Given the description of an element on the screen output the (x, y) to click on. 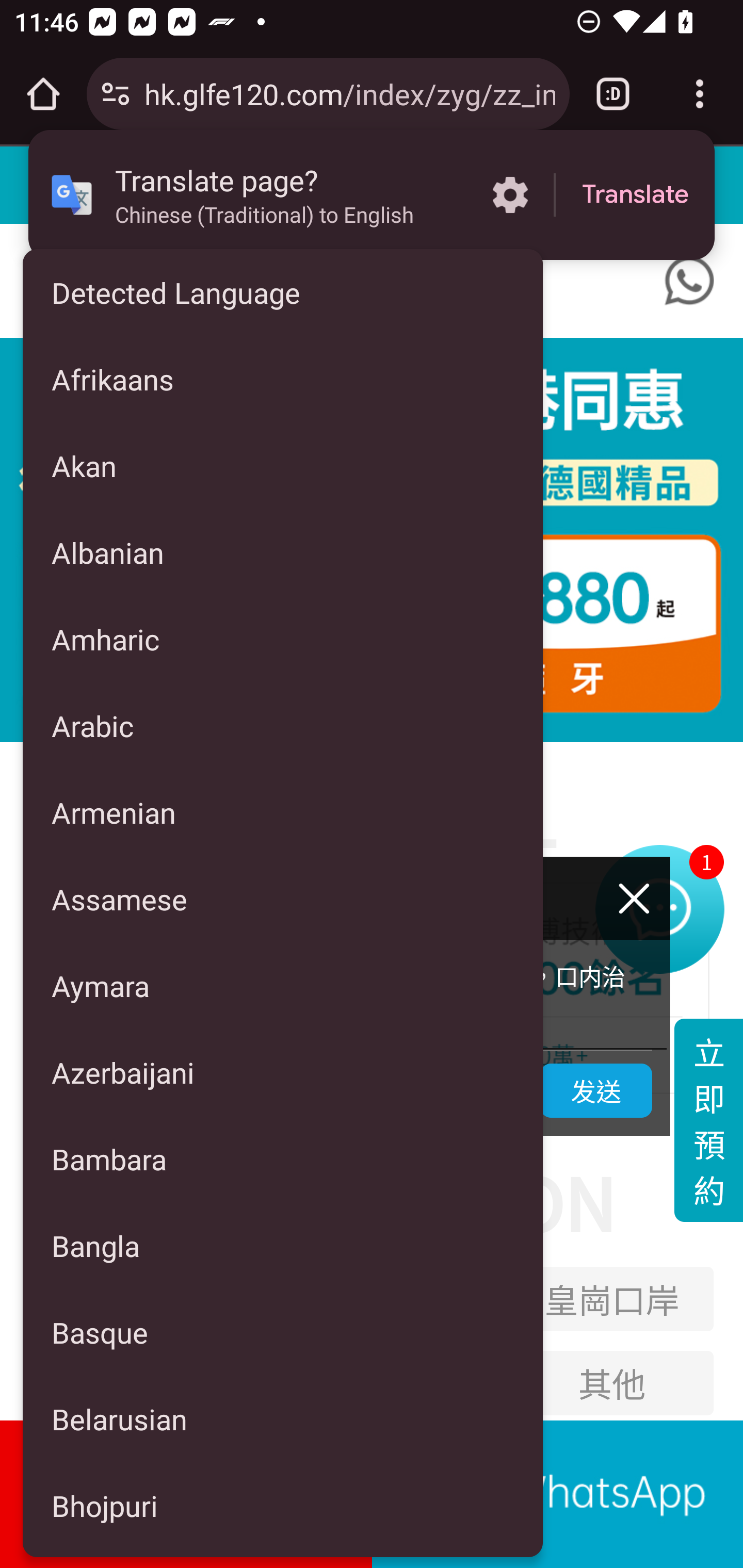
Detected Language (283, 292)
Afrikaans (283, 378)
Akan (283, 465)
Albanian (283, 552)
Amharic (283, 638)
Arabic (283, 725)
Armenian (283, 812)
Assamese (283, 899)
Aymara (283, 985)
Azerbaijani (283, 1072)
Bambara (283, 1159)
Bangla (283, 1245)
Basque (283, 1331)
Belarusian (283, 1418)
Bhojpuri (283, 1505)
